Given the description of an element on the screen output the (x, y) to click on. 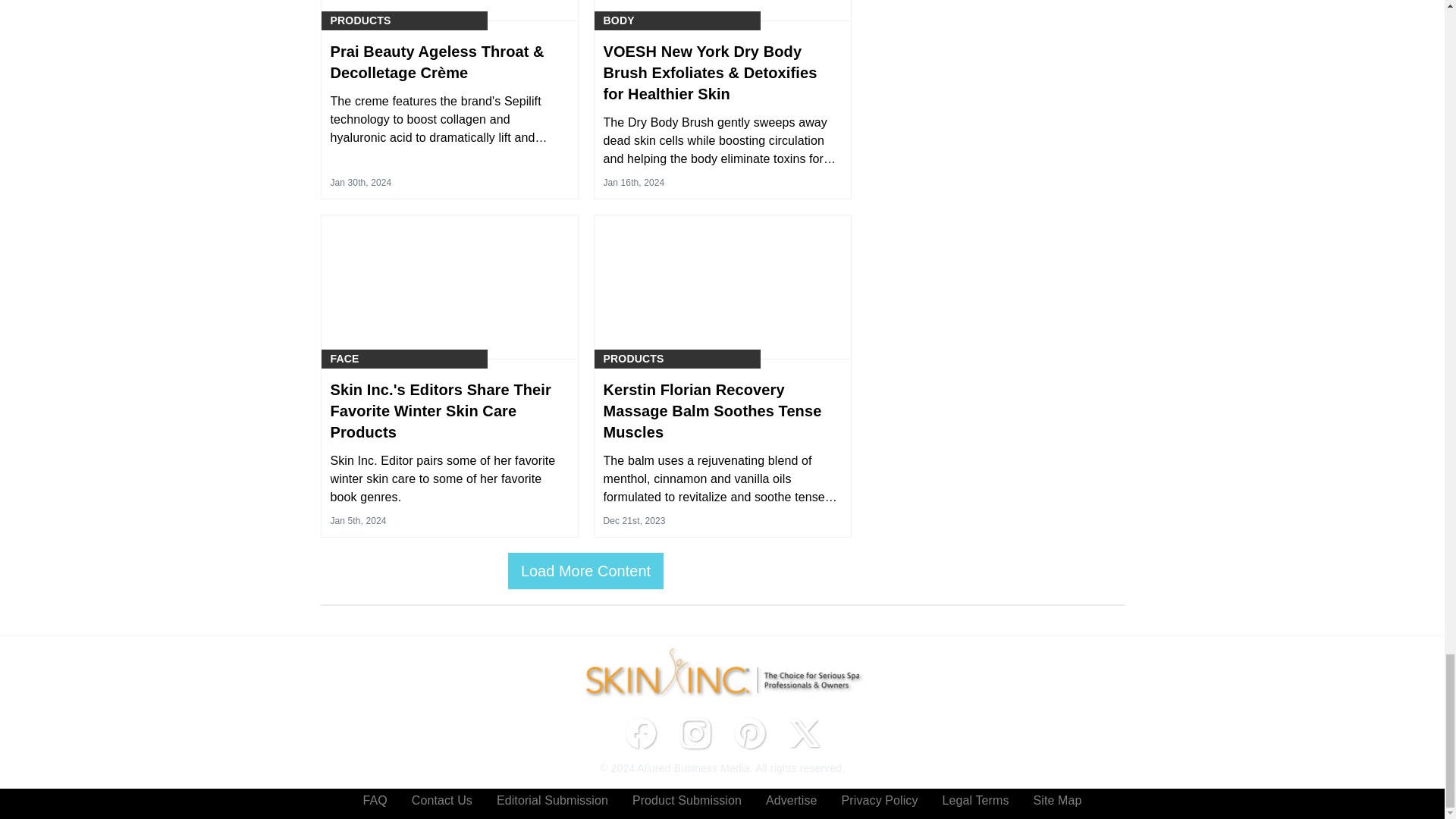
Facebook icon (639, 733)
Pinterest icon (748, 733)
Twitter X icon (803, 733)
Instagram icon (694, 733)
